Given the description of an element on the screen output the (x, y) to click on. 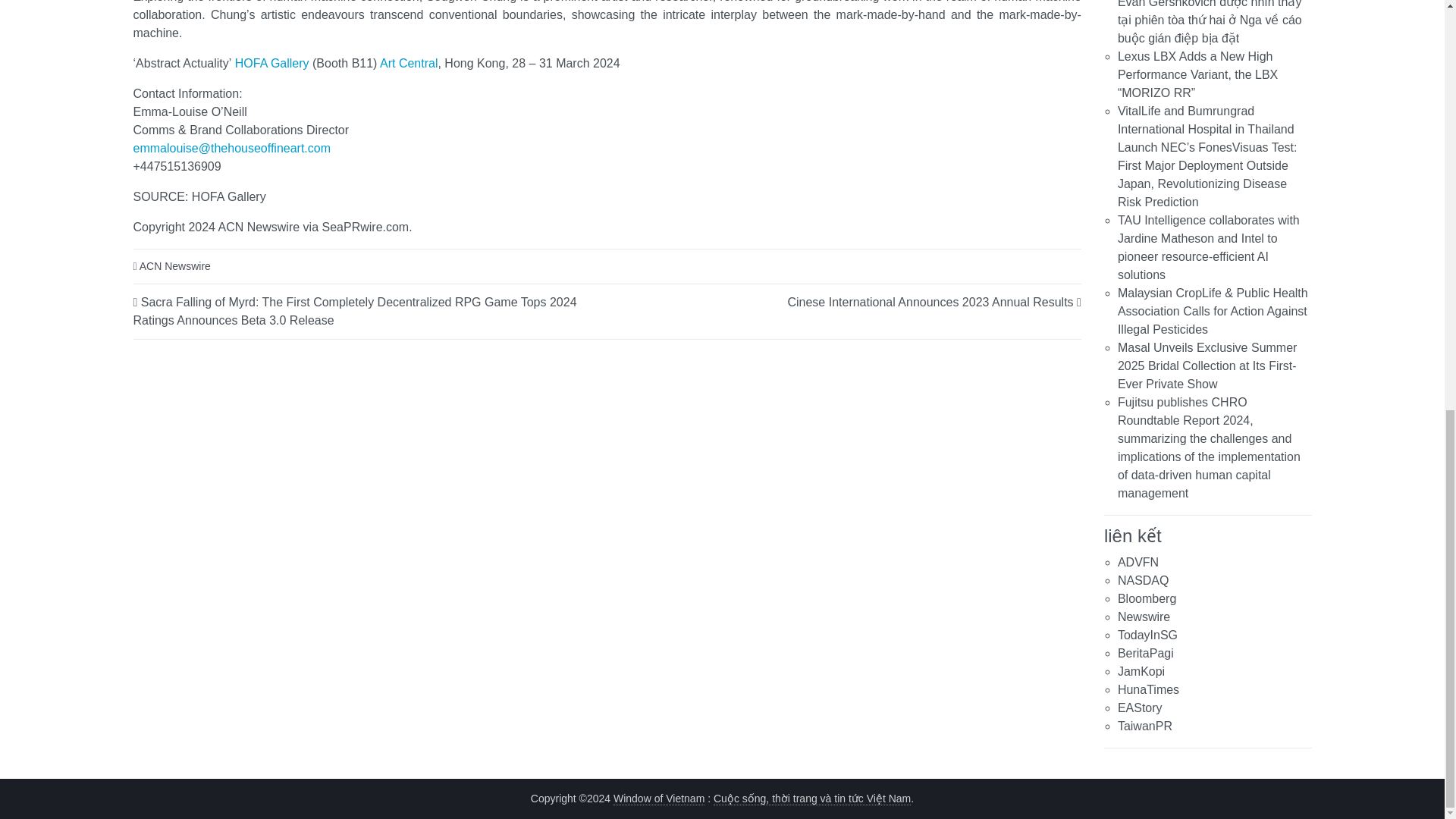
Art Central (409, 62)
HOFA Gallery (271, 62)
Cinese International Announces 2023 Annual Results (930, 300)
ACN Newswire (175, 265)
